Given the description of an element on the screen output the (x, y) to click on. 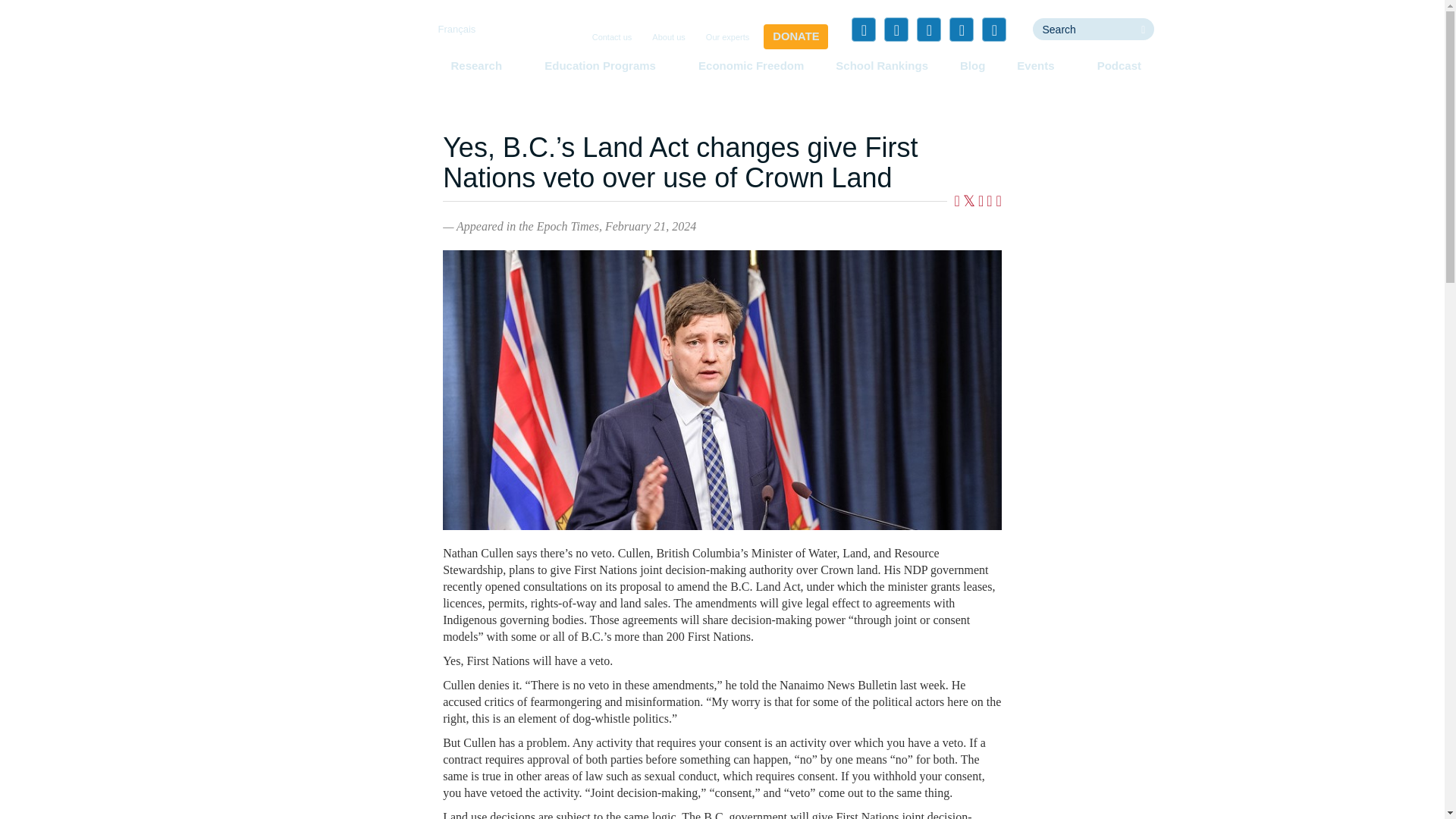
Contact us (612, 37)
Our experts (727, 37)
YouTube (961, 29)
Home (352, 56)
Enter the terms you wish to search for. (1082, 29)
Research (481, 65)
Facebook (863, 29)
LinkedIn (928, 29)
School Rankings (882, 65)
DONATE (795, 36)
About us (668, 37)
Twitter (895, 29)
Instagram (993, 29)
